Given the description of an element on the screen output the (x, y) to click on. 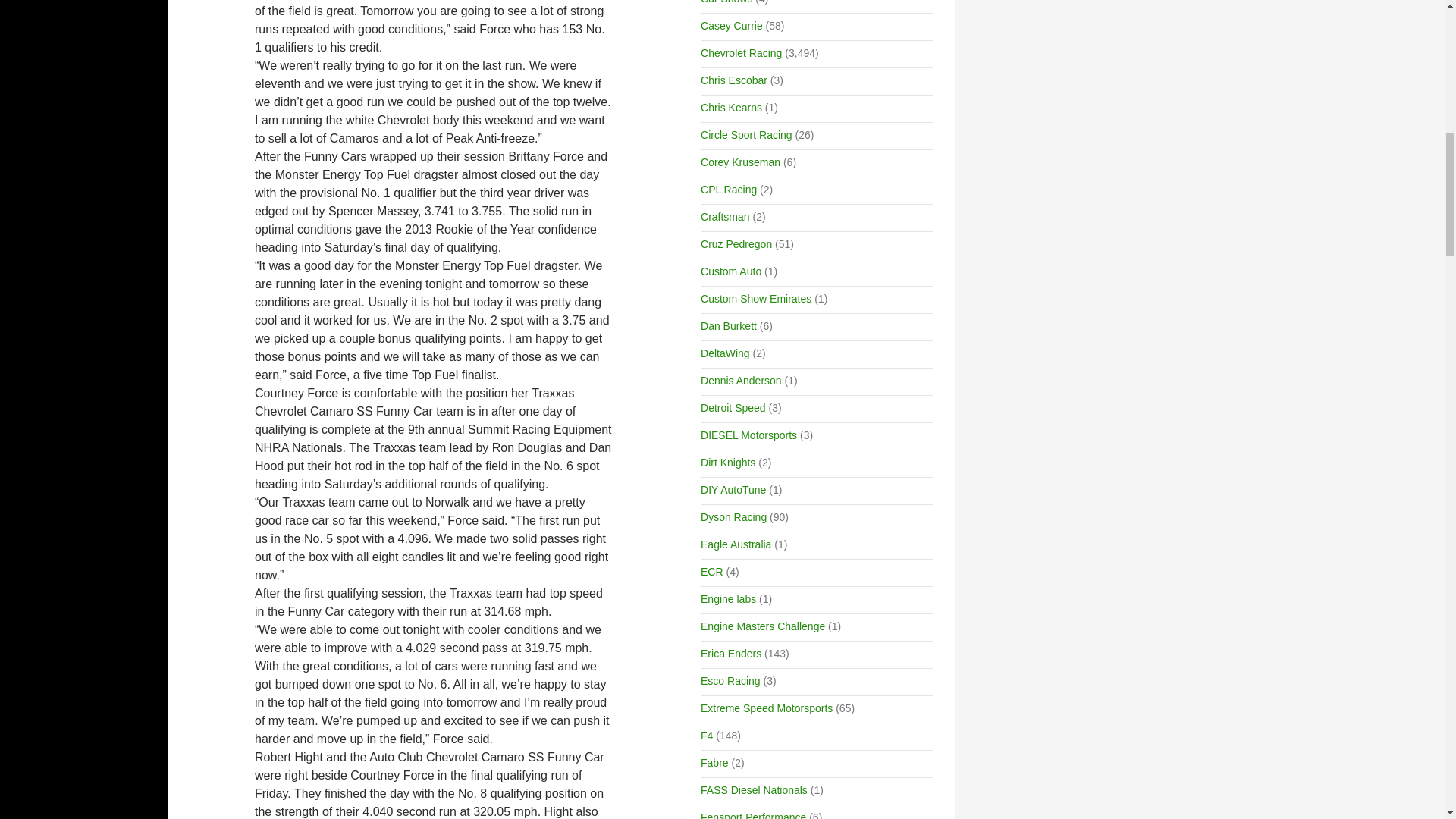
Car Shows (726, 2)
Casey Currie (731, 25)
Chris Escobar (733, 80)
Chevrolet Racing (740, 52)
